Given the description of an element on the screen output the (x, y) to click on. 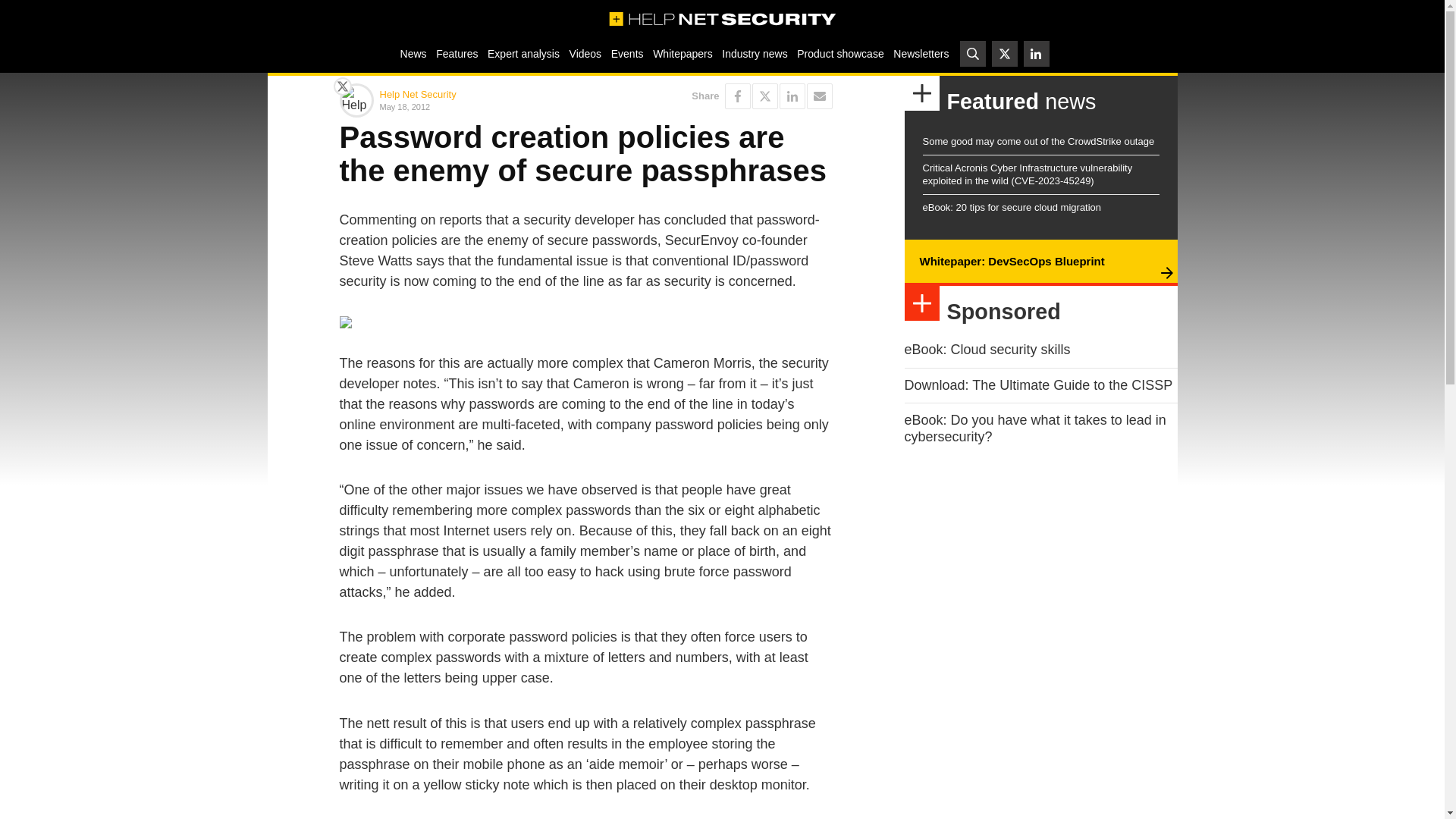
Some good may come out of the CrowdStrike outage (1037, 141)
Videos (584, 53)
Events (626, 53)
Expert analysis (523, 53)
eBook: Cloud security skills (987, 349)
Industry news (754, 53)
Product showcase (840, 53)
Some good may come out of the CrowdStrike outage (1037, 141)
eBook: Do you have what it takes to lead in cybersecurity? (1035, 428)
eBook: 20 tips for secure cloud migration (1010, 206)
News (412, 53)
